Given the description of an element on the screen output the (x, y) to click on. 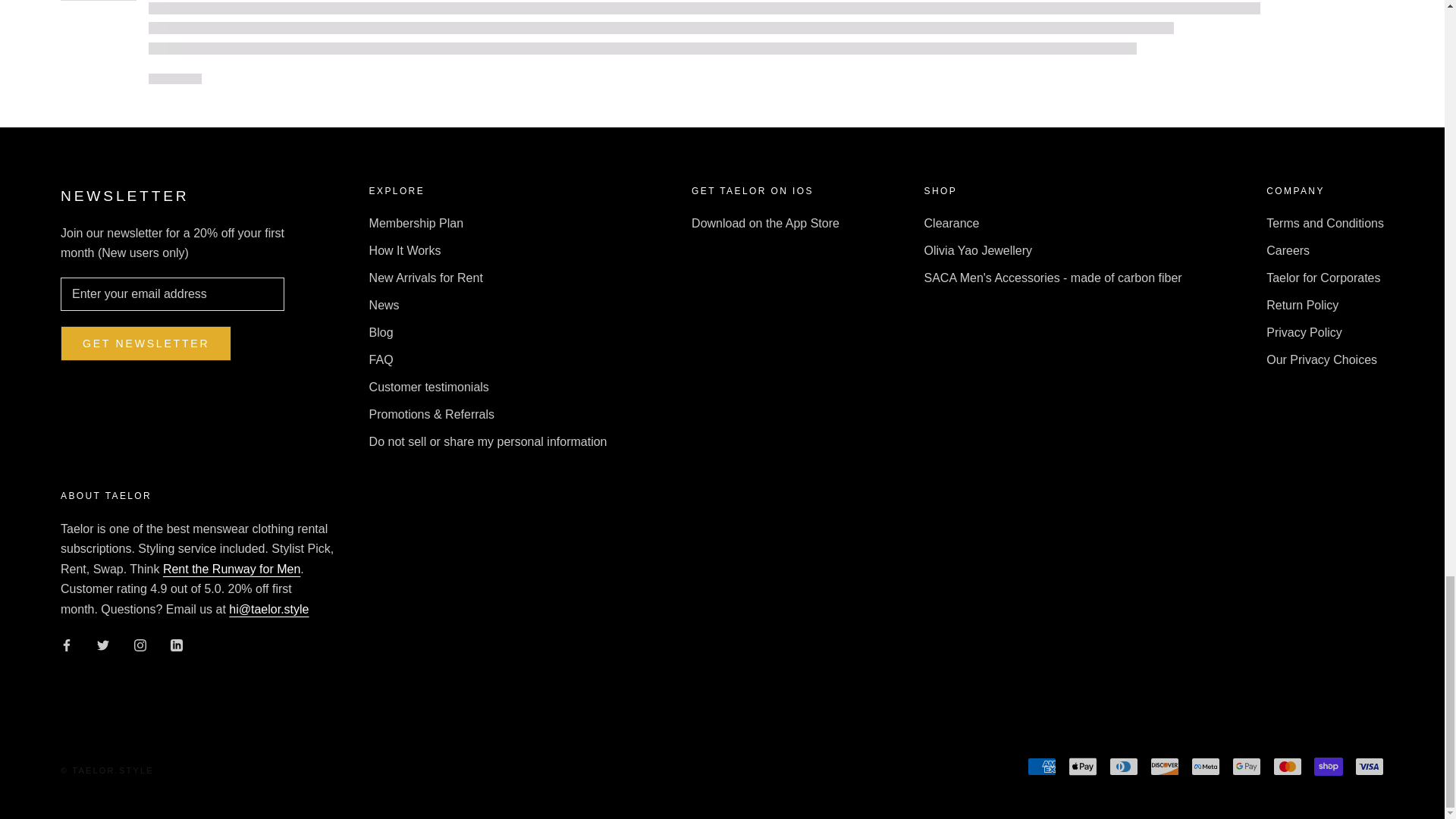
Visa (1369, 766)
American Express (1042, 766)
Diners Club (1123, 766)
Mastercard (1286, 766)
Google Pay (1245, 766)
Discover (1164, 766)
Rent the Runway for Men (231, 568)
Meta Pay (1205, 766)
Apple Pay (1082, 766)
Shop Pay (1328, 766)
